Given the description of an element on the screen output the (x, y) to click on. 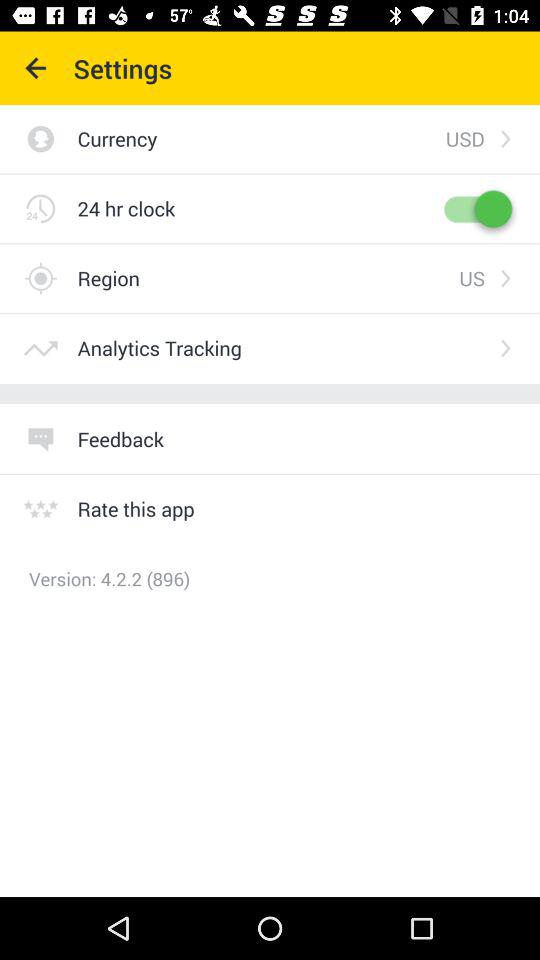
launch item above rate this app item (120, 438)
